Given the description of an element on the screen output the (x, y) to click on. 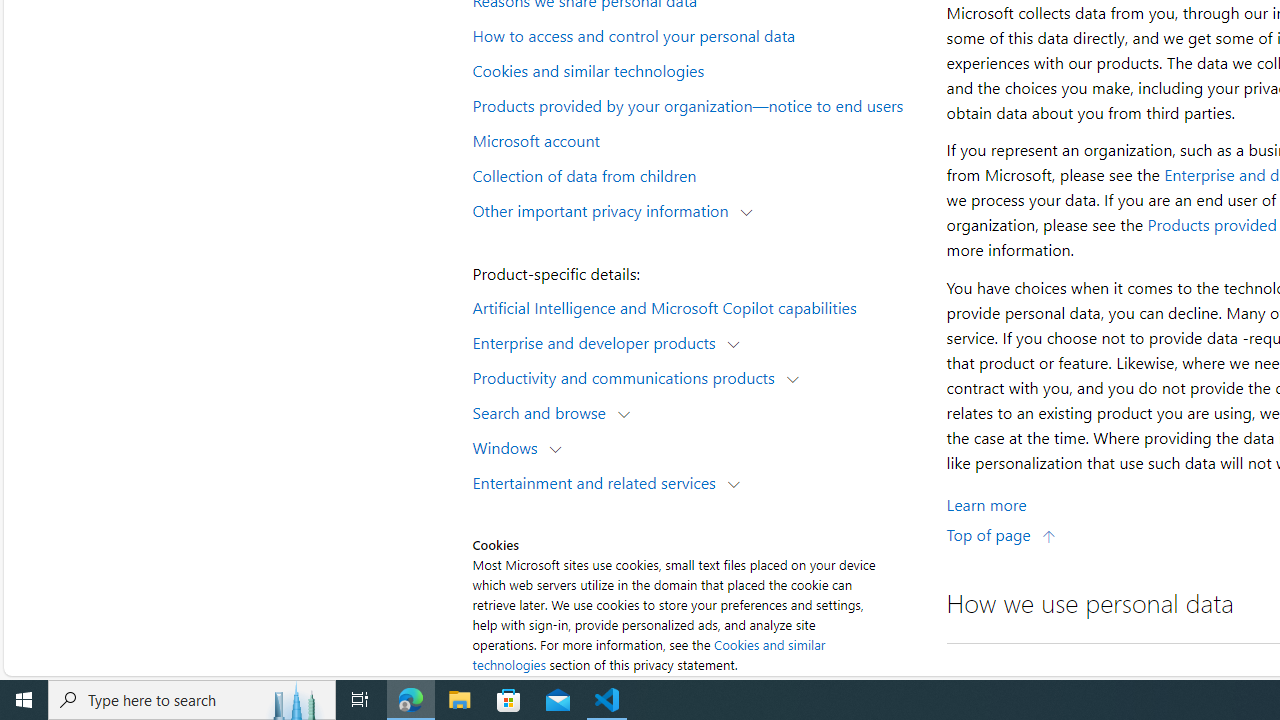
Enterprise and developer products (598, 341)
Other important privacy information (605, 209)
Cookies and similar technologies (648, 654)
Windows (509, 446)
Learn More about Personal data we collect (985, 504)
Productivity and communications products (628, 376)
How to access and control your personal data (696, 35)
Search and browse (543, 412)
Entertainment and related services (598, 481)
Artificial Intelligence and Microsoft Copilot capabilities (696, 306)
Collection of data from children (696, 174)
Microsoft account (696, 139)
Top of page (1001, 534)
